Given the description of an element on the screen output the (x, y) to click on. 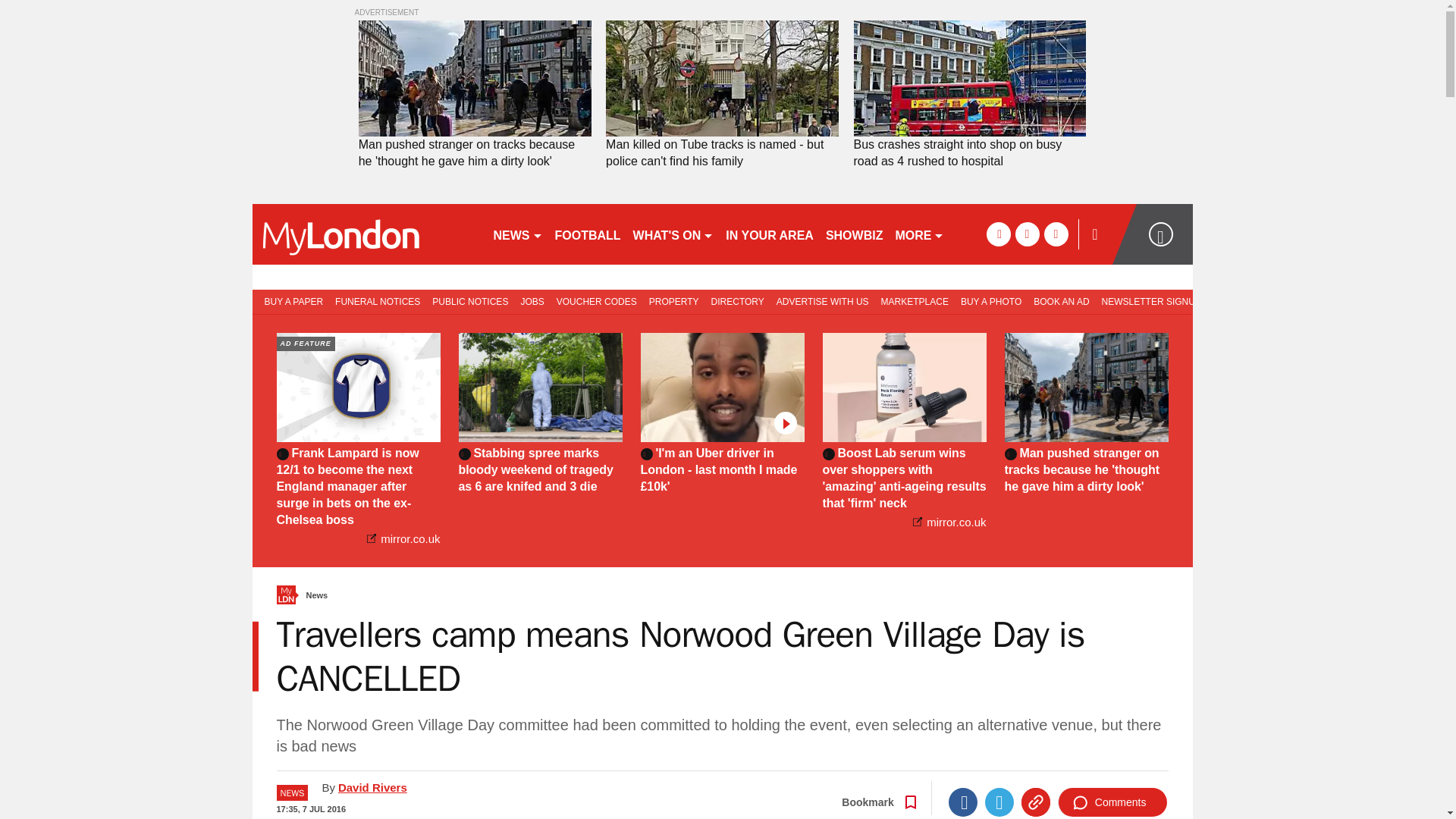
Facebook (962, 801)
FOOTBALL (587, 233)
instagram (1055, 233)
twitter (1026, 233)
WHAT'S ON (673, 233)
facebook (997, 233)
Comments (1112, 801)
Twitter (999, 801)
NEWS (517, 233)
